Given the description of an element on the screen output the (x, y) to click on. 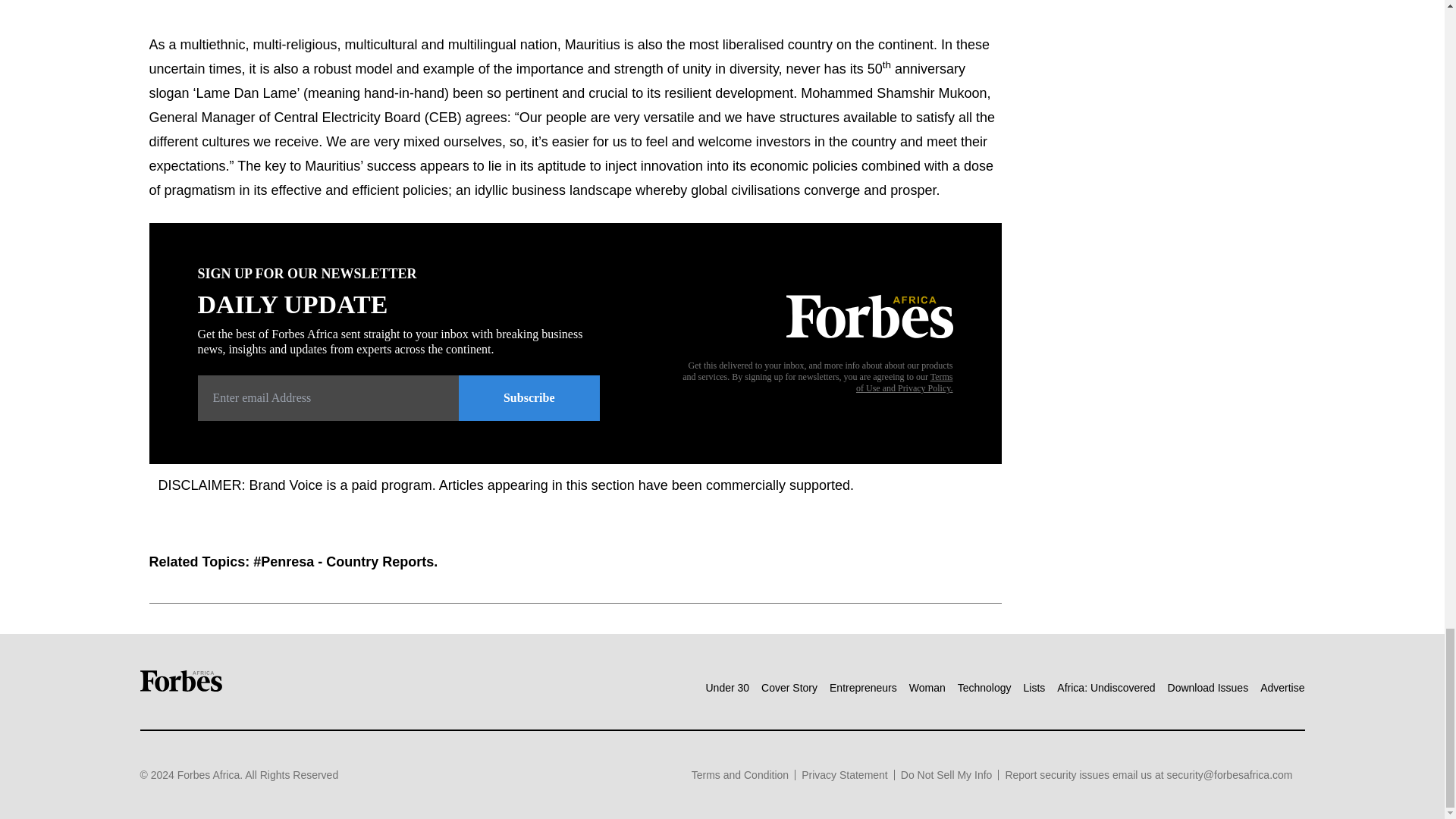
Under 30 (726, 687)
Penresa - Country Reports (346, 561)
Do Not Sell My Info (946, 774)
Terms and Condition (740, 774)
Technology (984, 687)
Africa: Undiscovered (1105, 687)
Subscribe (528, 397)
Privacy Statement (845, 774)
Terms of Use and Privacy Policy. (904, 382)
Download Issues (1208, 687)
